Given the description of an element on the screen output the (x, y) to click on. 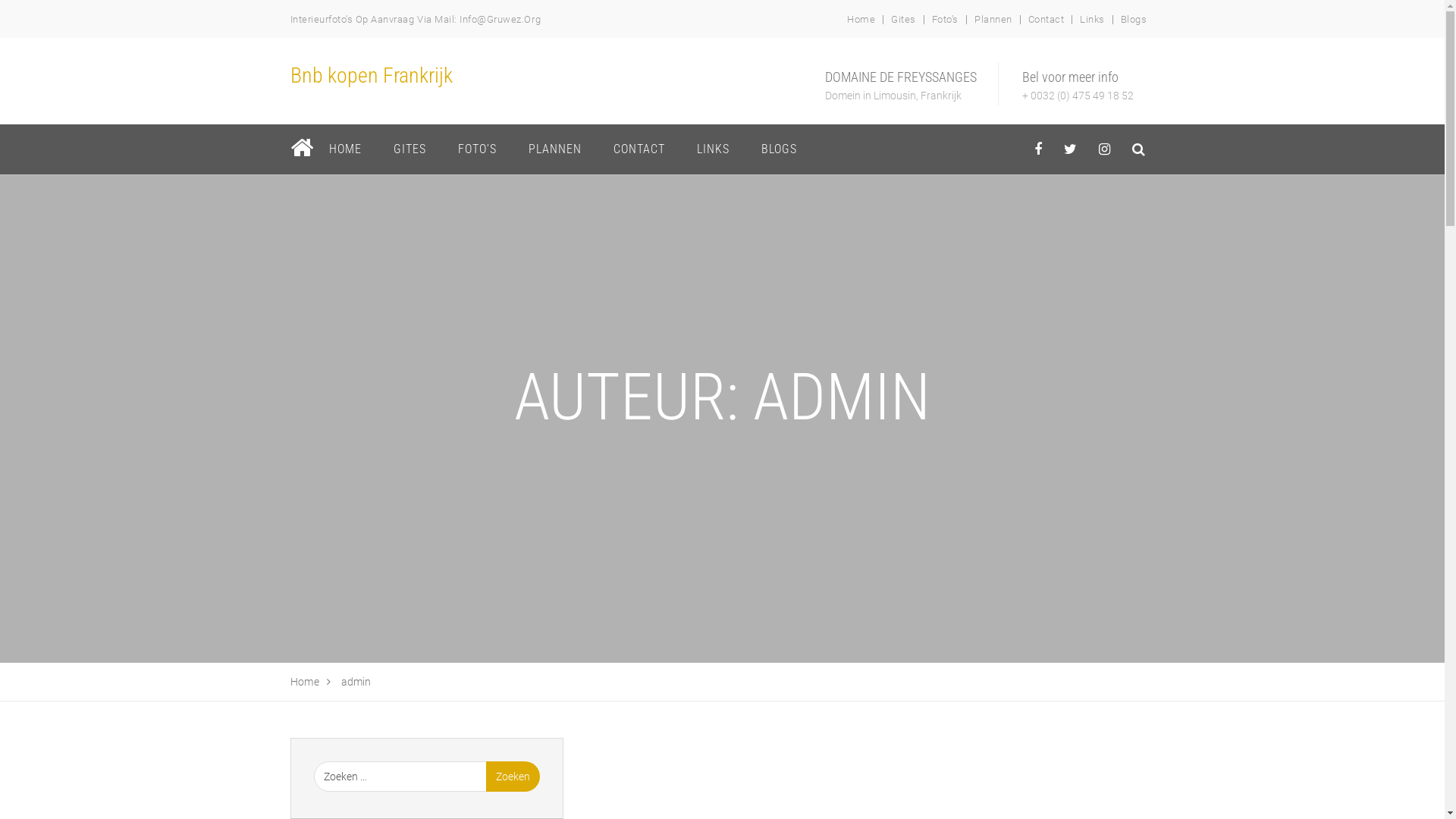
BLOGS Element type: text (778, 148)
HOME Element type: text (344, 148)
Gites Element type: text (903, 19)
Plannen Element type: text (993, 19)
Home Element type: text (304, 681)
Bnb kopen Frankrijk Element type: text (370, 74)
behance Element type: hover (1138, 148)
Zoeken Element type: text (512, 776)
Contact Element type: text (1046, 19)
PLANNEN Element type: text (554, 148)
Links Element type: text (1091, 19)
GITES Element type: text (409, 148)
CONTACT Element type: text (638, 148)
Blogs Element type: text (1133, 19)
Home Element type: text (861, 19)
LINKS Element type: text (713, 148)
